Given the description of an element on the screen output the (x, y) to click on. 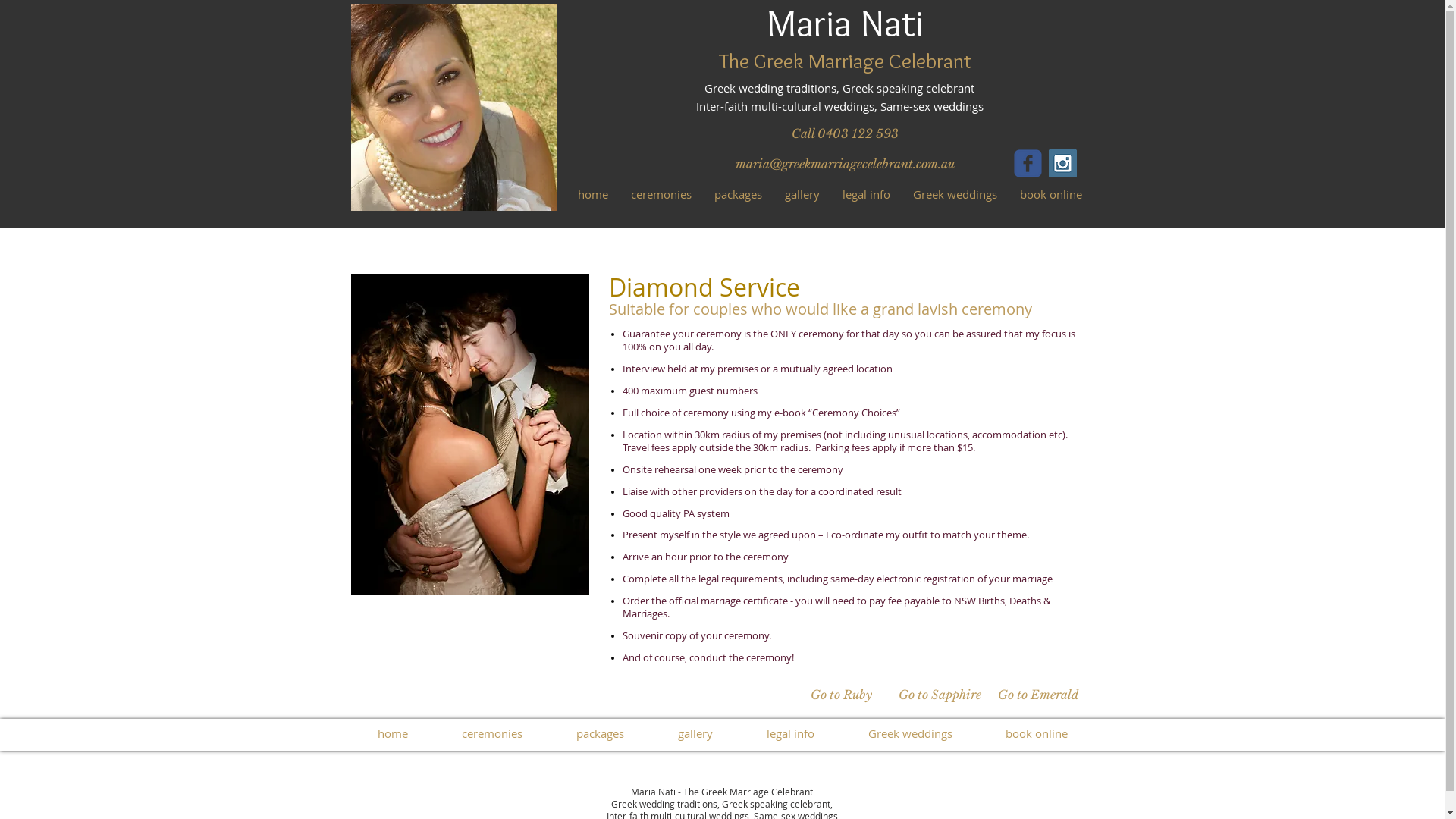
legal info Element type: text (866, 194)
gallery Element type: text (694, 732)
ceremonies Element type: text (492, 732)
packages Element type: text (599, 732)
Go to Emerald Element type: text (1037, 695)
book online Element type: text (1050, 194)
maria@greekmarriagecelebrant.com.au Element type: text (844, 163)
Go to Ruby Element type: text (840, 695)
Go to Sapphire Element type: text (939, 695)
Greek weddings Element type: text (953, 194)
legal info Element type: text (790, 732)
Call 0403 122 593 Element type: text (844, 133)
ceremonies Element type: text (660, 194)
book online Element type: text (1035, 732)
Greek weddings Element type: text (910, 732)
home Element type: text (591, 194)
home Element type: text (392, 732)
gallery Element type: text (802, 194)
packages Element type: text (737, 194)
